Given the description of an element on the screen output the (x, y) to click on. 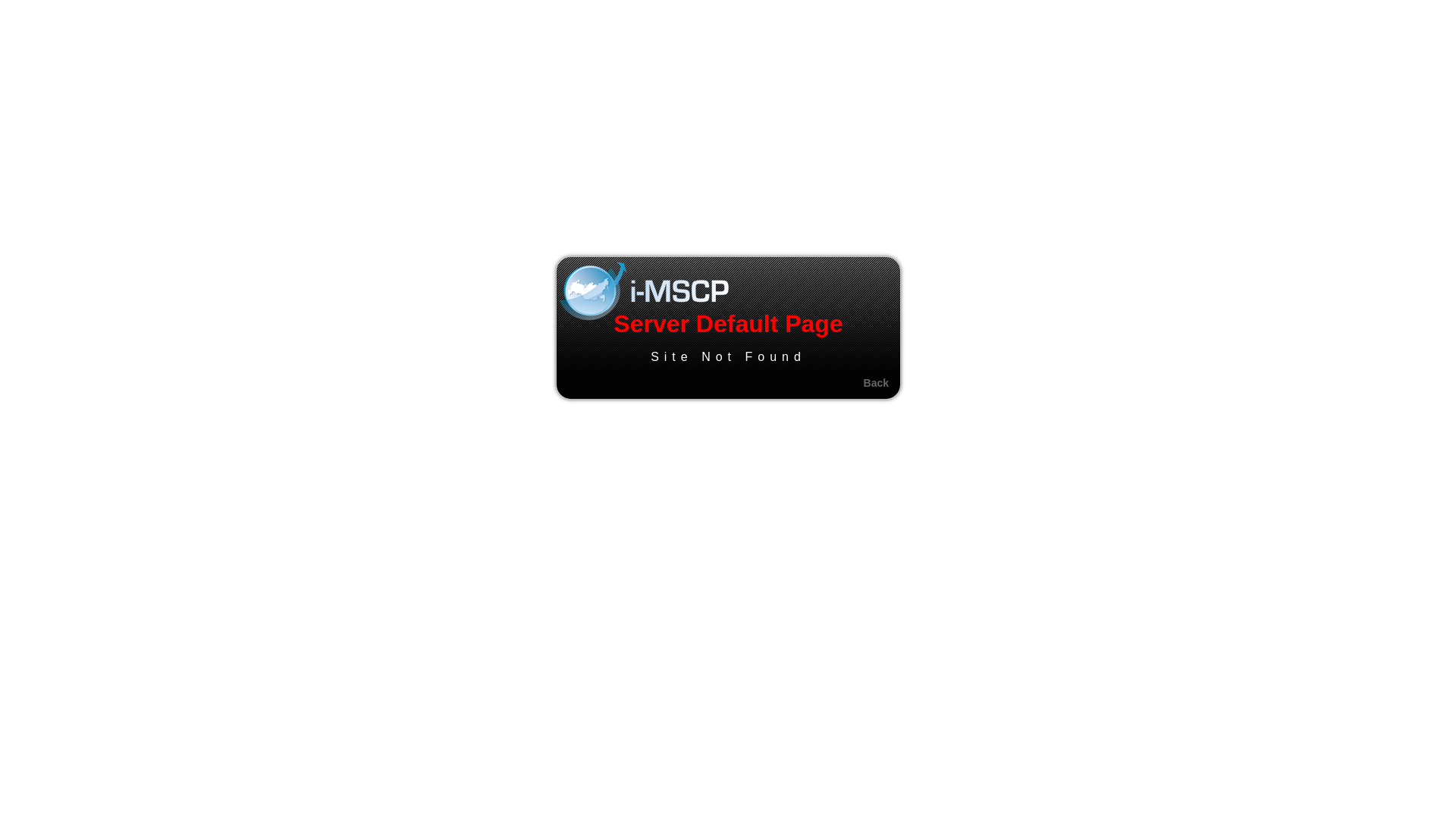
Back Element type: text (875, 382)
